Given the description of an element on the screen output the (x, y) to click on. 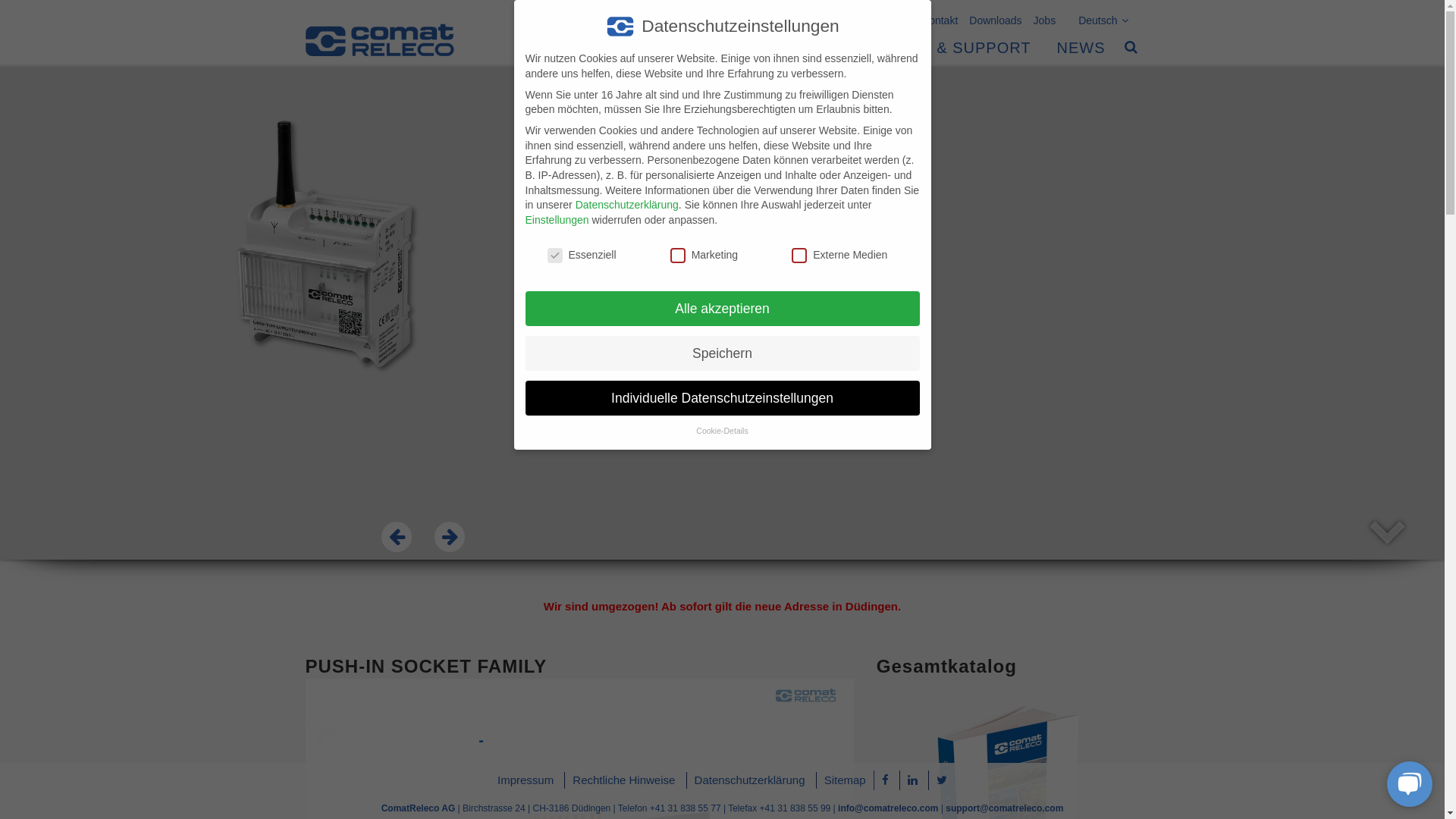
Speichern Element type: text (721, 352)
Twitter Element type: hover (941, 779)
Rechtliche Hinweise Element type: text (623, 779)
NEWS Element type: text (1080, 37)
Jobs Element type: text (1039, 16)
Kontakt Element type: text (933, 16)
support@comatreleco.com Element type: text (1004, 808)
info@comatreleco.com Element type: text (887, 808)
SERVICE & SUPPORT Element type: text (945, 37)
Downloads Element type: text (989, 16)
Cookie-Details Element type: text (721, 430)
Einstellungen Element type: text (556, 219)
LinkedIn Element type: hover (912, 779)
PRODUKTE Element type: text (560, 37)
Gesamtkatalog Element type: text (946, 665)
ANWENDUNGSBEREICHE Element type: text (732, 37)
Deutsch Element type: text (1096, 16)
Individuelle Datenschutzeinstellungen Element type: text (721, 397)
Facebook Element type: hover (884, 779)
Sitemap Element type: text (845, 779)
Impressum Element type: text (525, 779)
Alle akzeptieren Element type: text (721, 308)
